Given the description of an element on the screen output the (x, y) to click on. 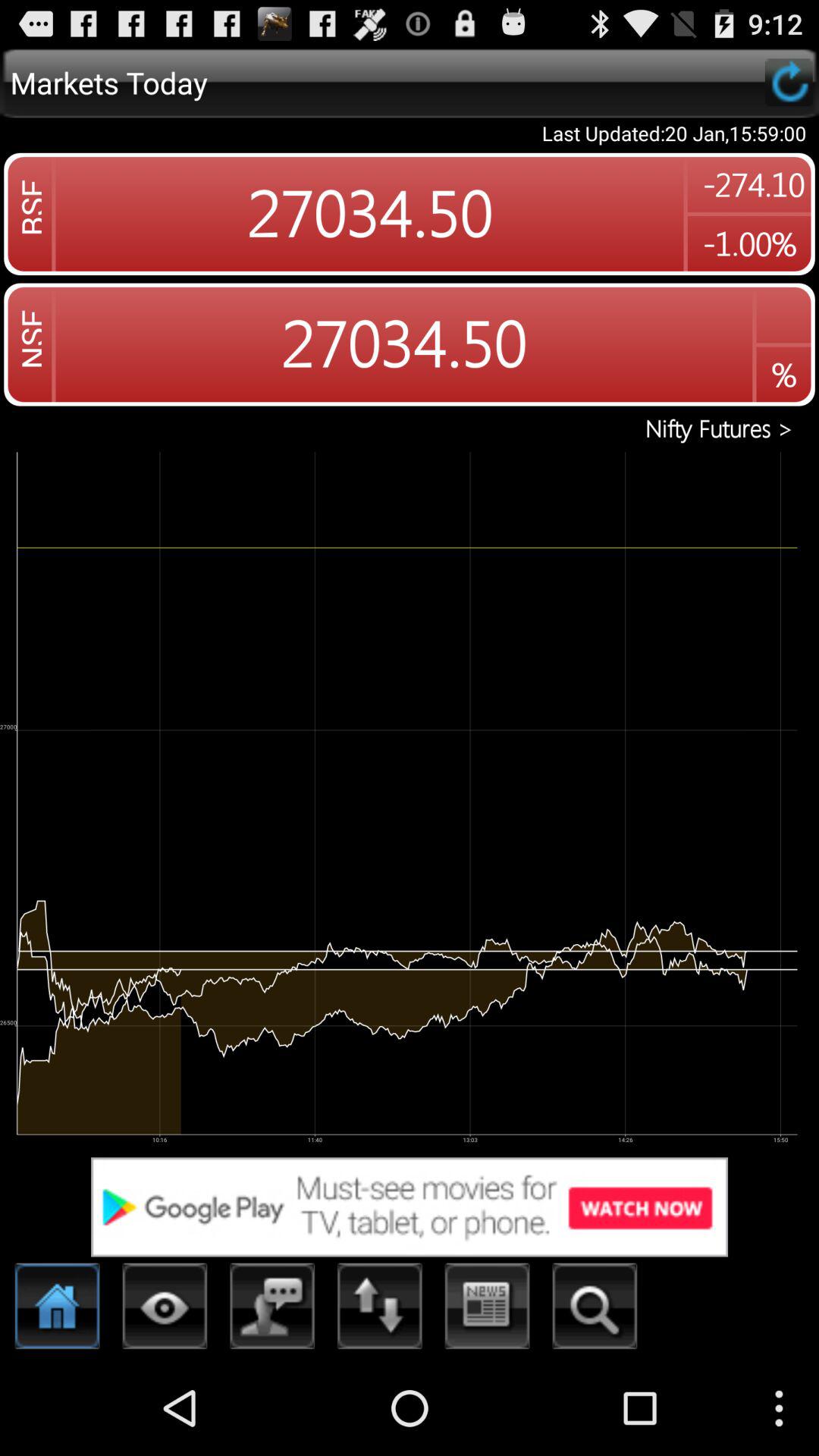
go to save (788, 82)
